Given the description of an element on the screen output the (x, y) to click on. 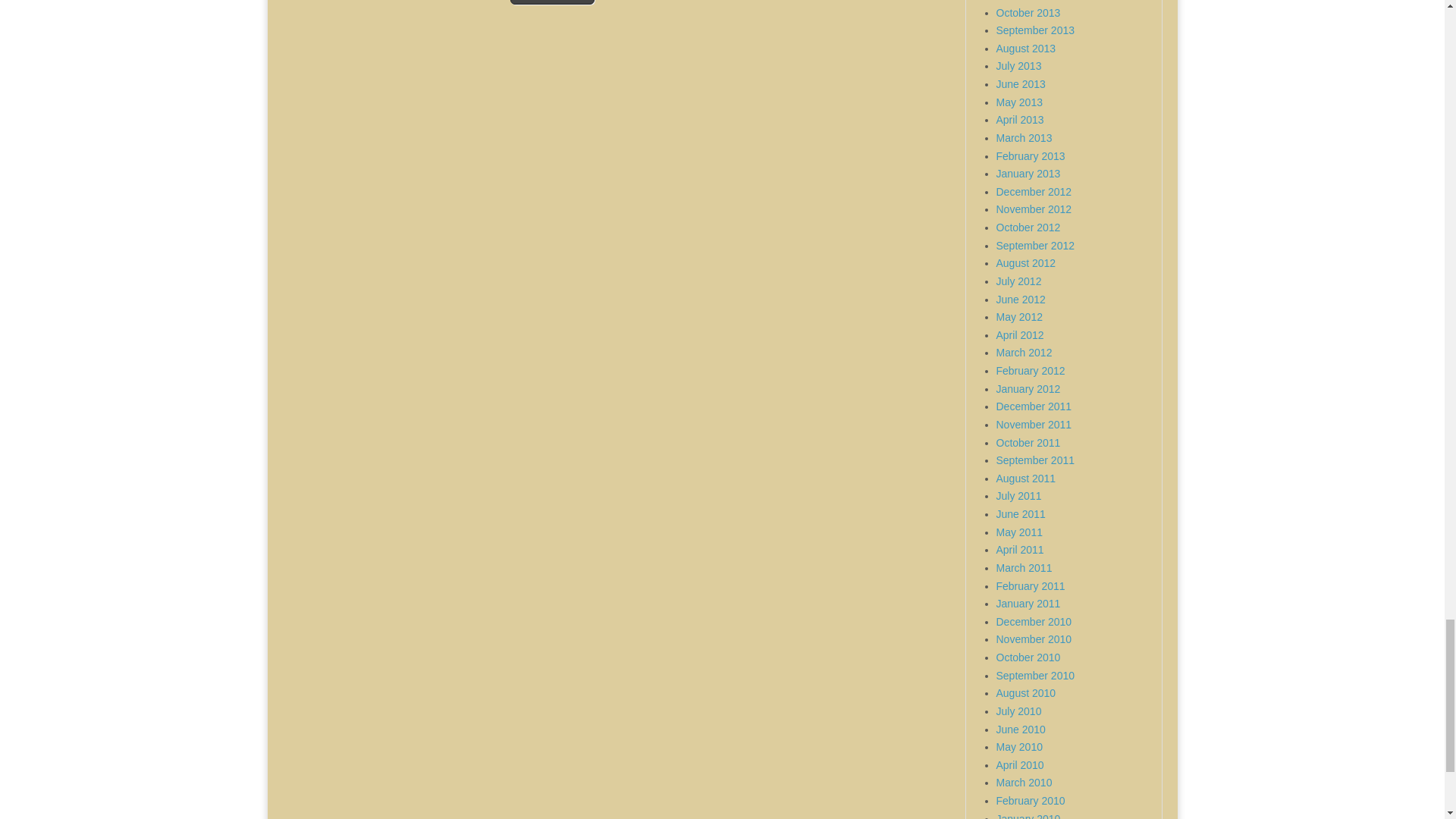
Post Comment (551, 2)
Post Comment (551, 2)
